Given the description of an element on the screen output the (x, y) to click on. 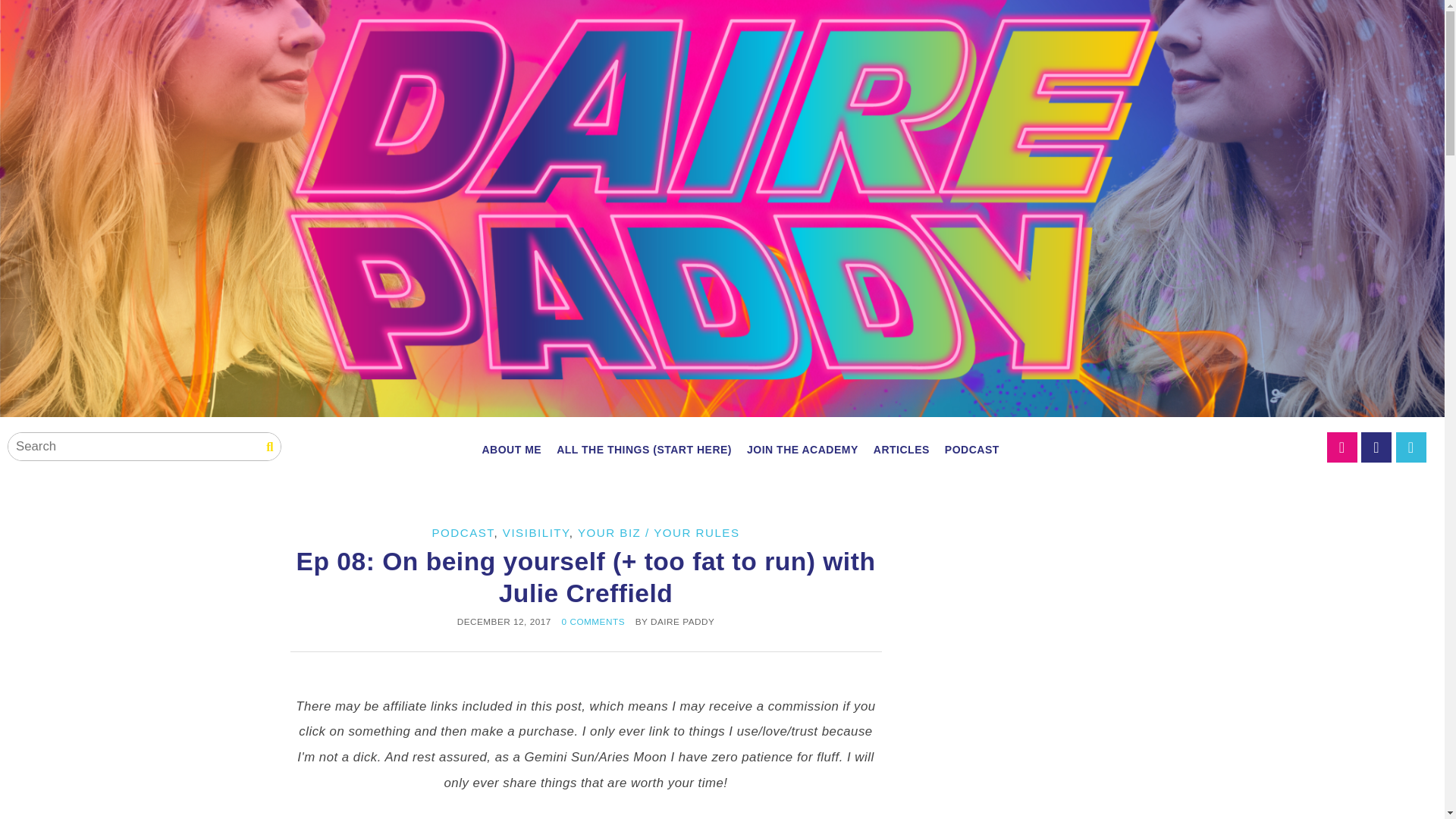
VISIBILITY (535, 532)
PODCAST (972, 449)
0 COMMENTS (593, 621)
ARTICLES (901, 449)
JOIN THE ACADEMY (802, 449)
PODCAST (461, 532)
ABOUT ME (511, 449)
